Given the description of an element on the screen output the (x, y) to click on. 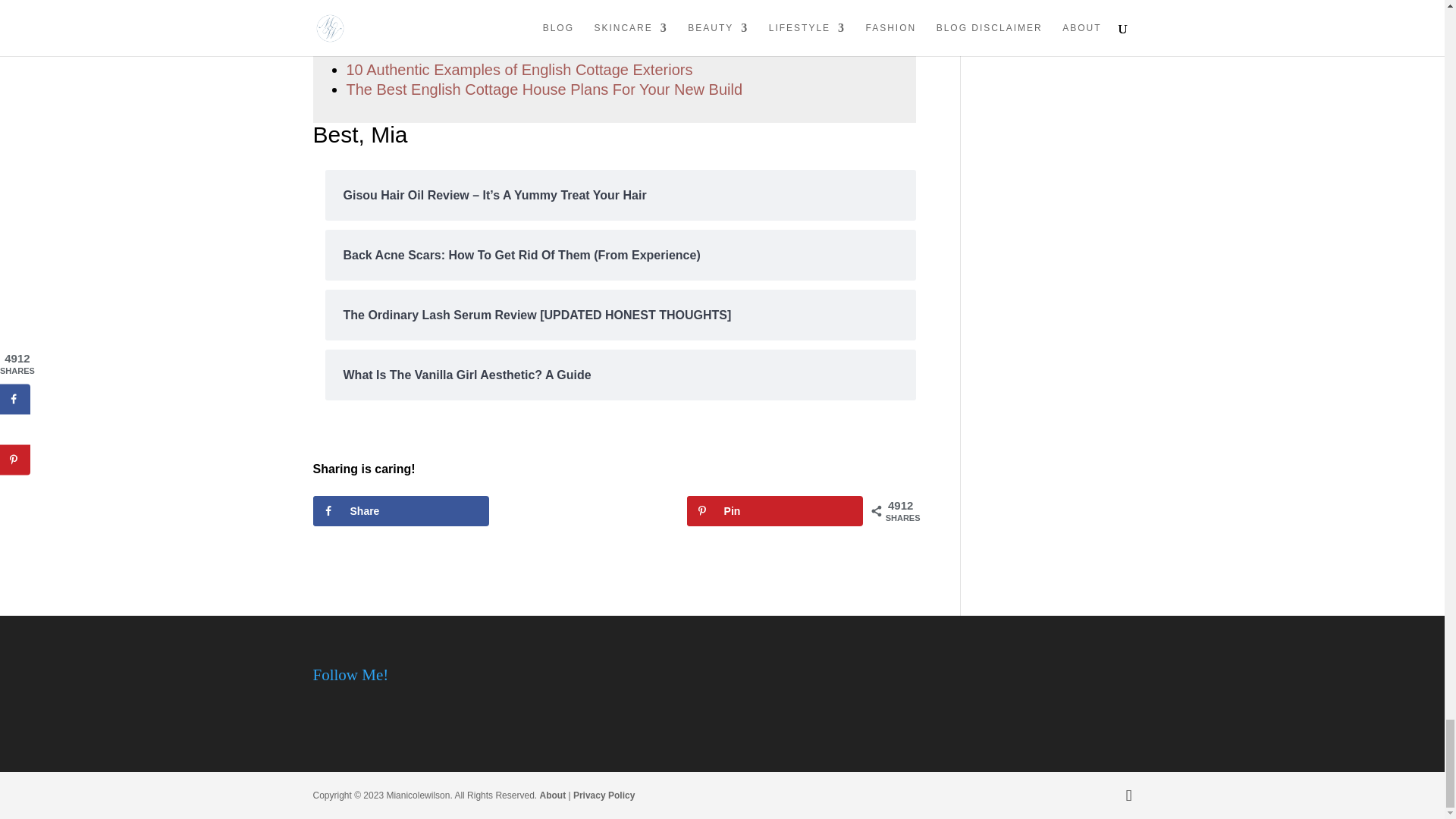
The Best English Cottage House Plans For Your New Build (544, 89)
Share on Facebook (400, 511)
10 Authentic Examples of English Cottage Exteriors (519, 69)
Save to Pinterest (775, 511)
Share on X (587, 511)
